Given the description of an element on the screen output the (x, y) to click on. 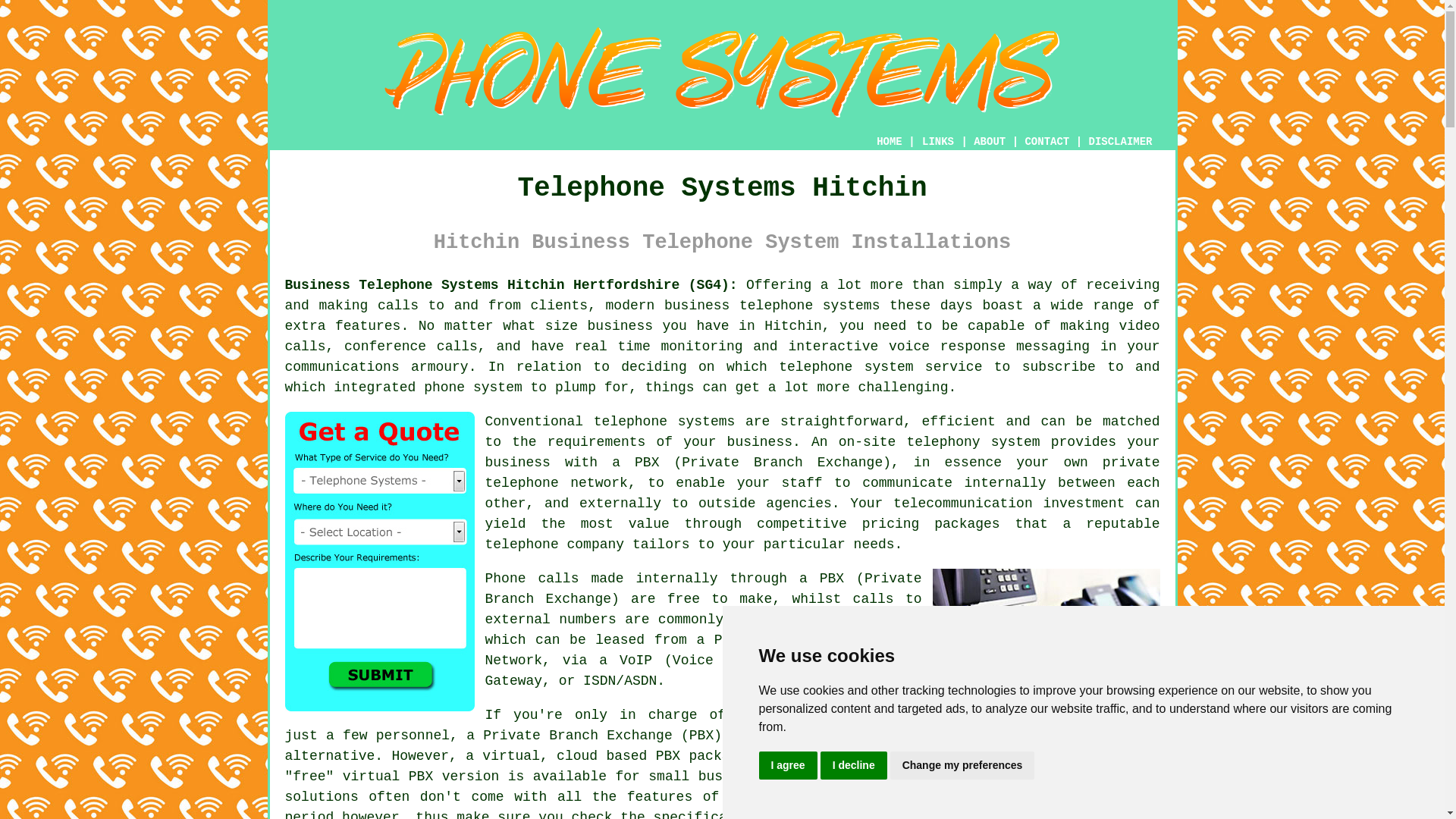
LINKS (938, 141)
HOME (889, 141)
telephone company (554, 544)
analogue lines (863, 619)
cloud based (601, 755)
I agree (787, 765)
telephone systems (809, 305)
Change my preferences (962, 765)
Telephone Systems Hitchin (721, 72)
I decline (853, 765)
